Given the description of an element on the screen output the (x, y) to click on. 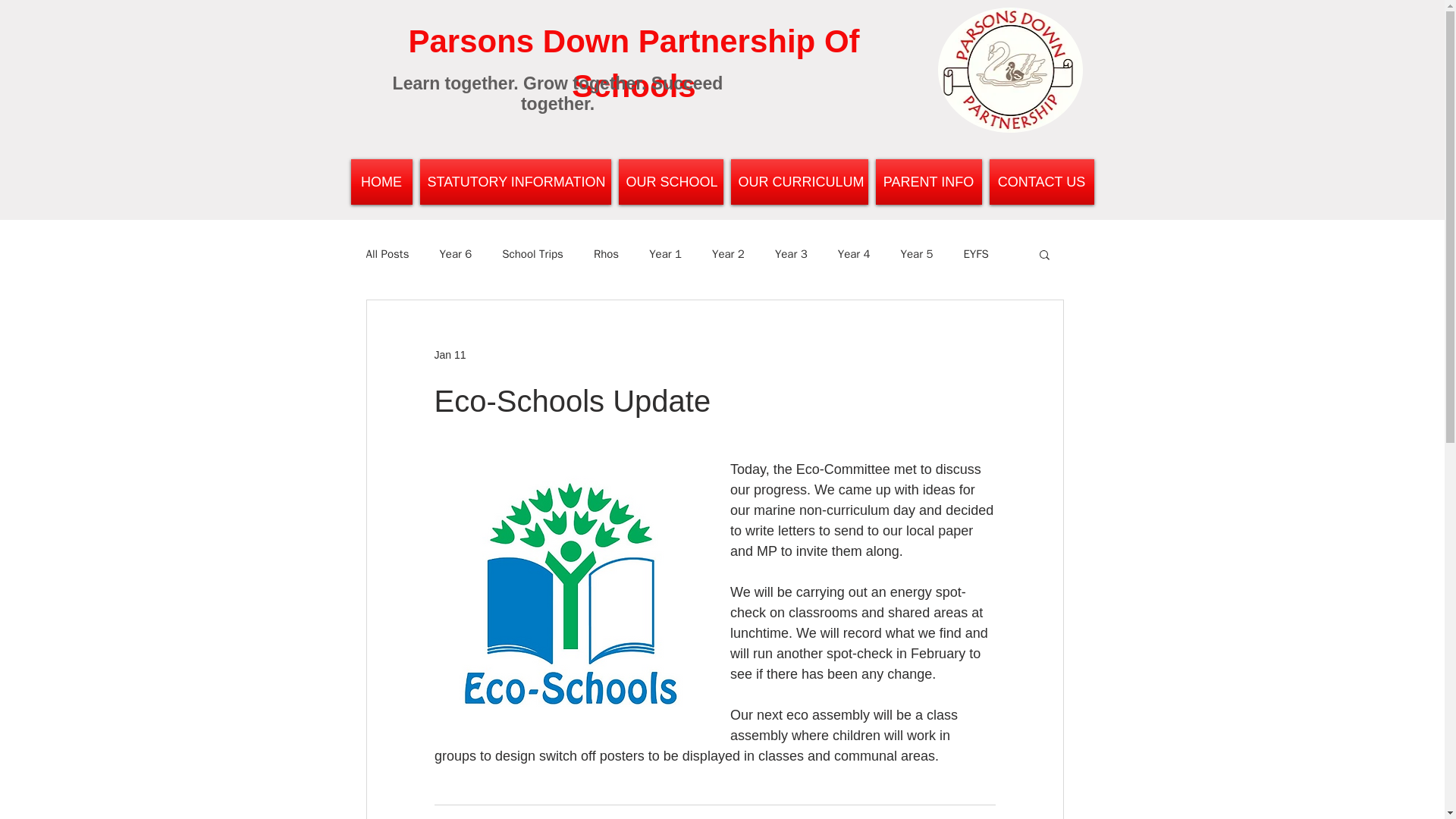
HOME (382, 181)
Jan 11 (449, 354)
Parsons Down Partnership Of Schools (633, 63)
